Given the description of an element on the screen output the (x, y) to click on. 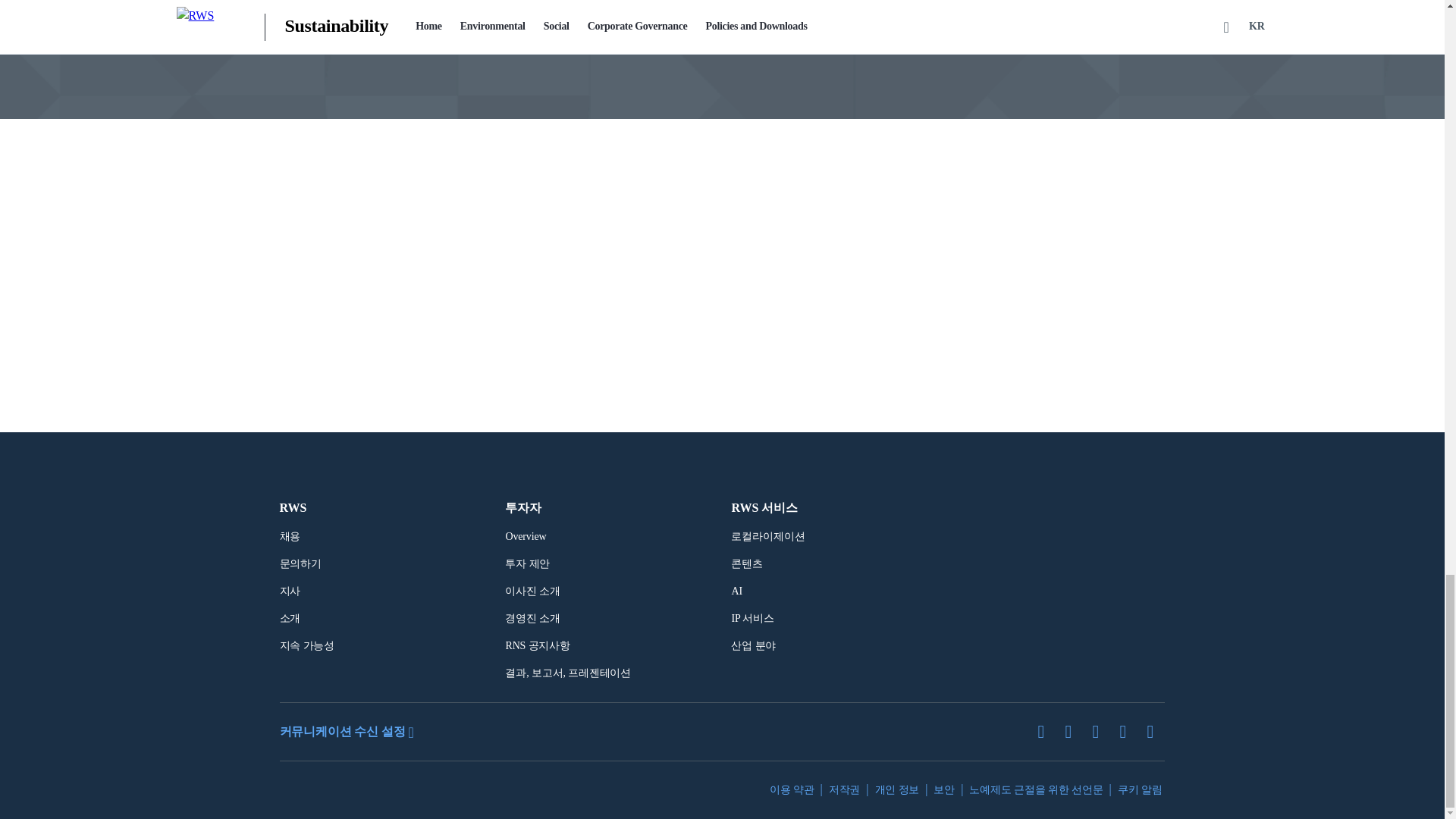
Facebook (1100, 731)
LinkedIn (1073, 731)
Overview (525, 536)
AI (735, 590)
Twitter (1045, 731)
Instagram (1155, 731)
YouTube (1128, 731)
